Given the description of an element on the screen output the (x, y) to click on. 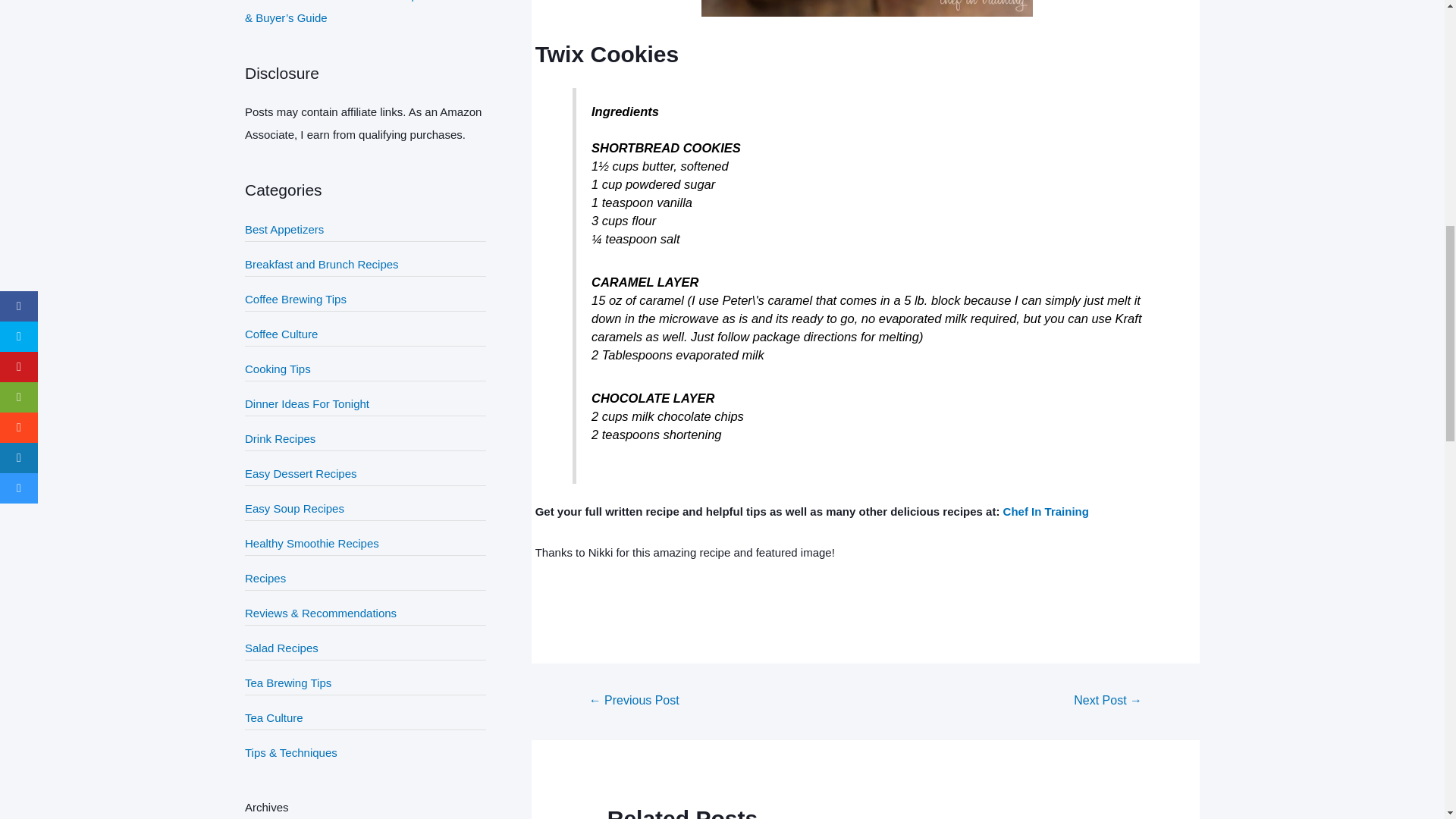
Salad Recipes (281, 647)
Recipes (264, 577)
Cooking Tips (277, 368)
Best Appetizers (283, 228)
Coffee Brewing Tips (295, 298)
Drink Recipes (279, 438)
Dinner Ideas For Tonight (306, 403)
Easy Soup Recipes (293, 508)
Coffee Culture (280, 333)
Breakfast and Brunch Recipes (321, 264)
Easy Dessert Recipes (300, 472)
Healthy Smoothie Recipes (311, 543)
